Given the description of an element on the screen output the (x, y) to click on. 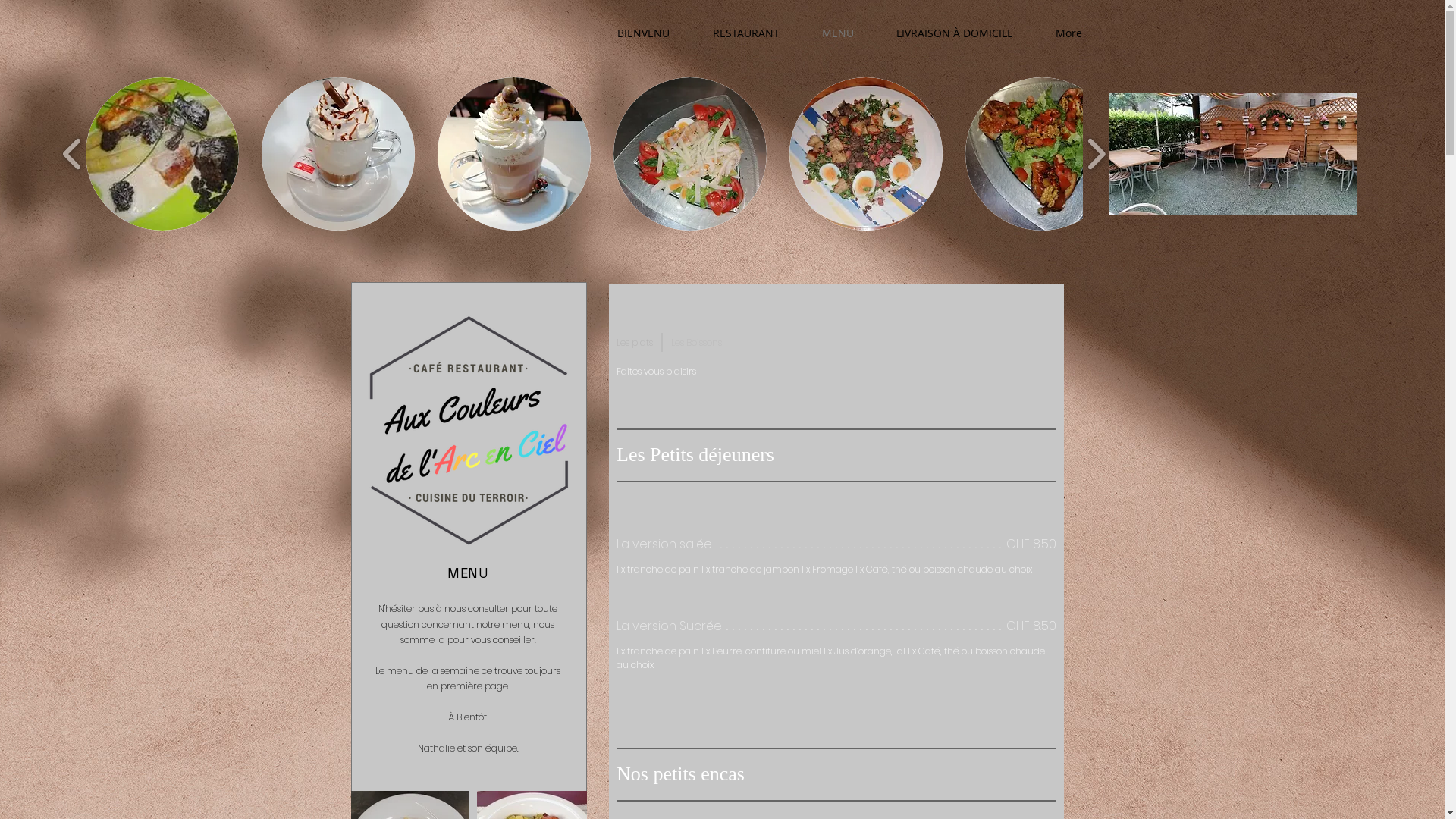
MENU Element type: text (837, 32)
BIENVENU Element type: text (643, 32)
RESTAURANT Element type: text (745, 32)
